Given the description of an element on the screen output the (x, y) to click on. 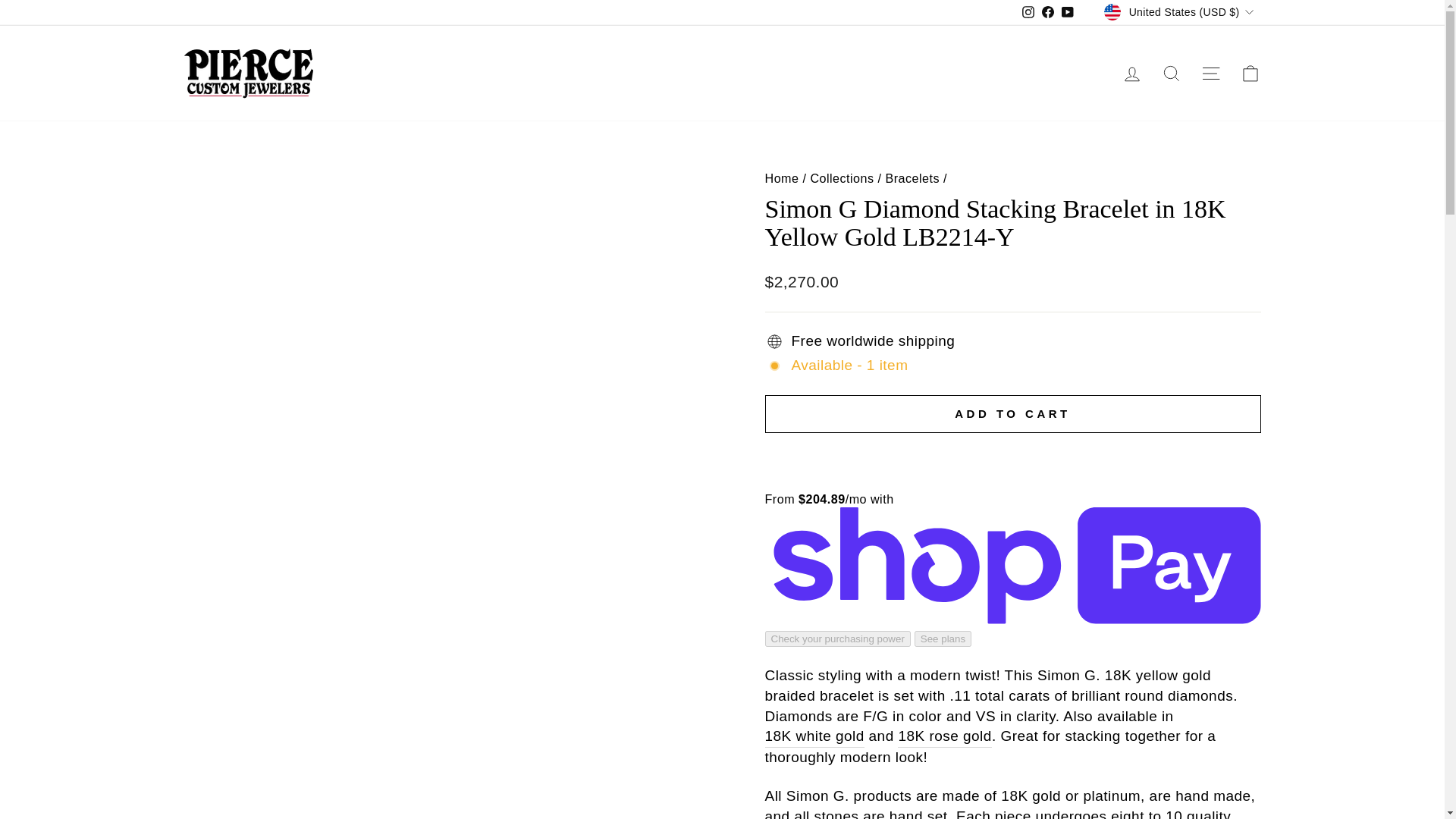
Simon G Diamond Stacking Bracelet in 18K Rose Gold LB2214-R (944, 736)
Simon G Diamond Stacking Bracelet in 18K White Gold LB2214 (813, 736)
Back to the frontpage (780, 178)
